Given the description of an element on the screen output the (x, y) to click on. 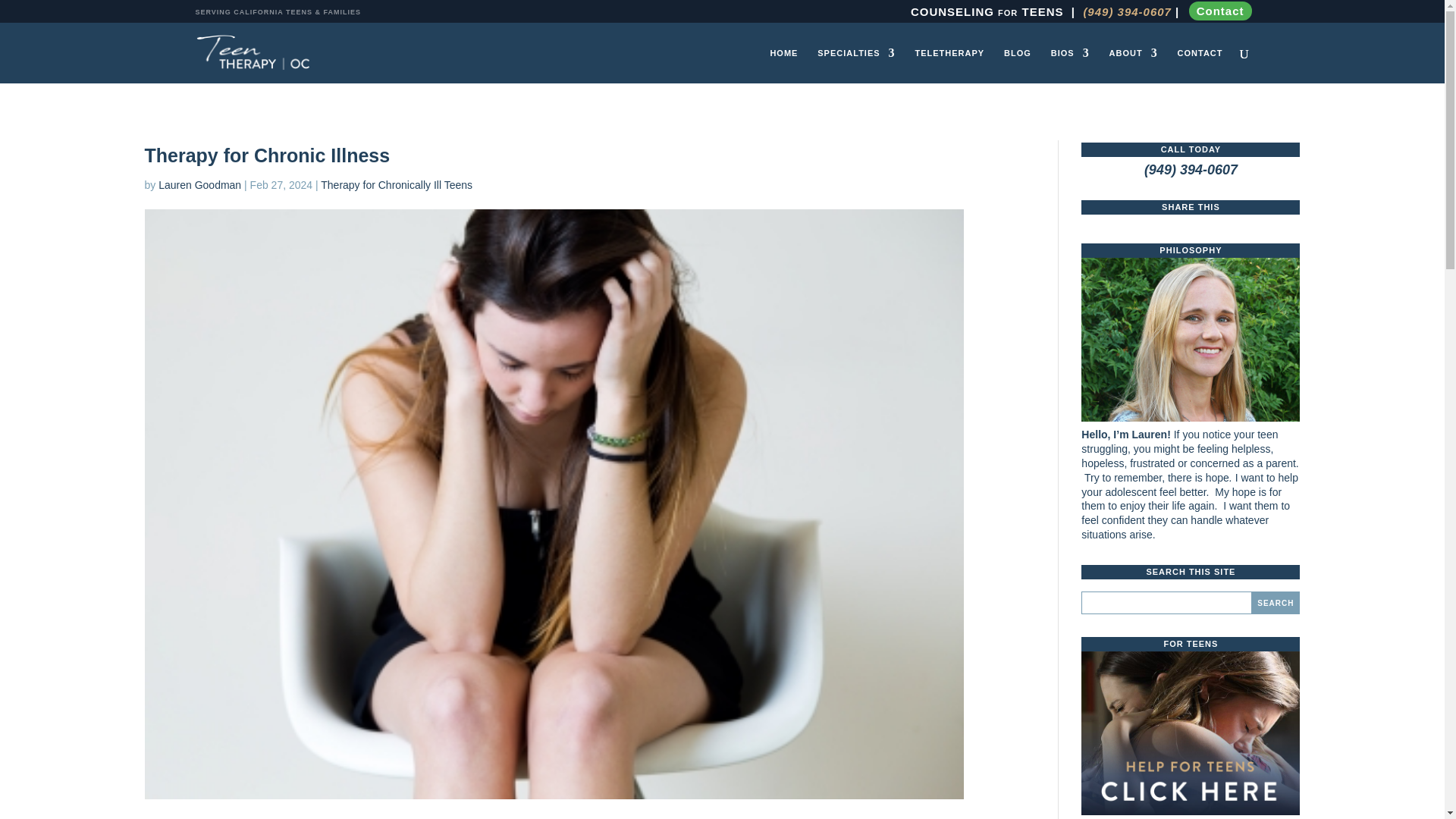
BIOS (1070, 65)
CONTACT (1200, 65)
ABOUT (1133, 65)
Posts by Lauren Goodman (199, 184)
BLOG (1017, 65)
TELETHERAPY (949, 65)
Search (1275, 602)
Contact (1220, 10)
SPECIALTIES (855, 65)
HOME (783, 65)
